Given the description of an element on the screen output the (x, y) to click on. 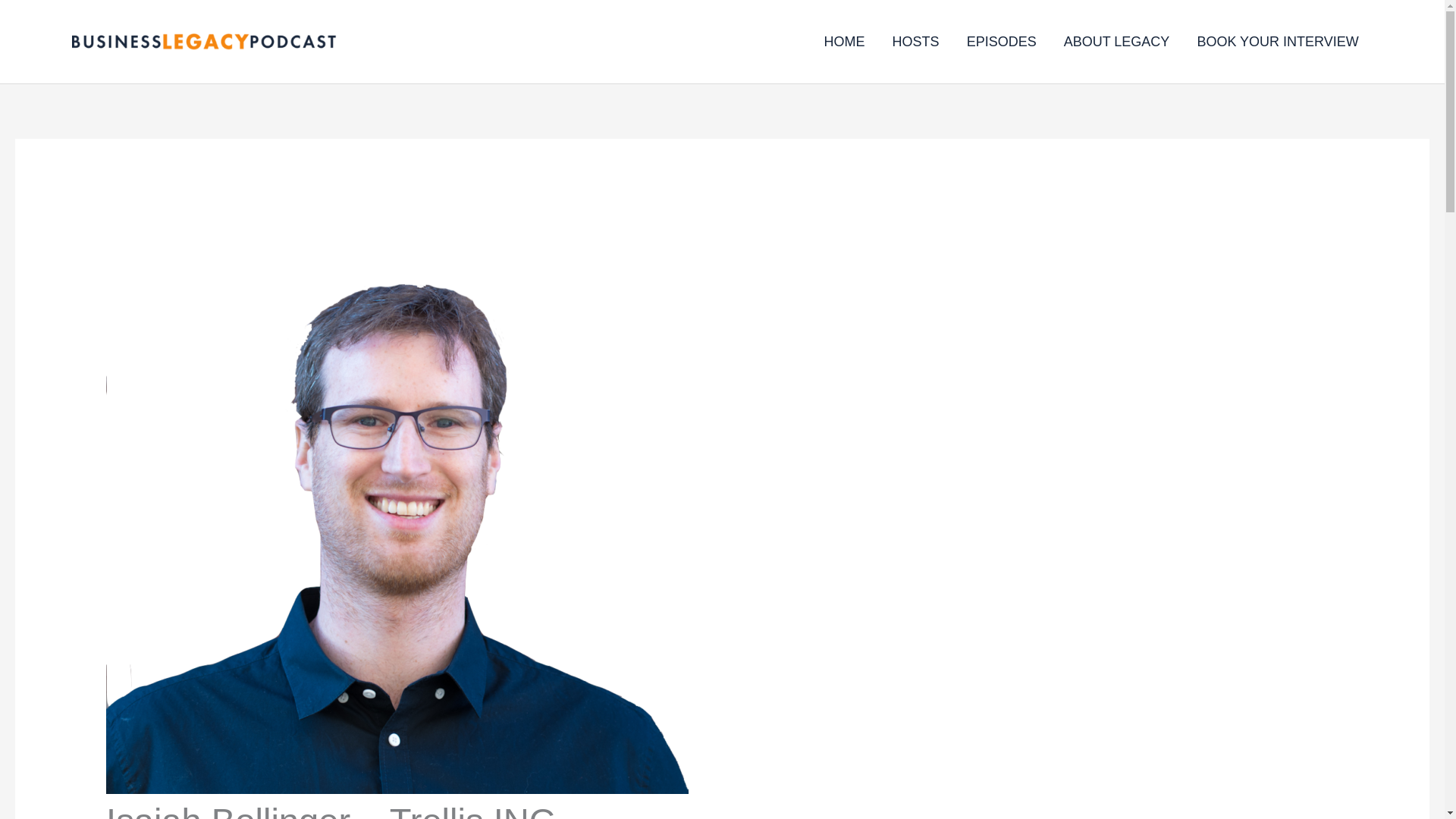
HOSTS (916, 41)
EPISODES (1001, 41)
ABOUT LEGACY (1116, 41)
BOOK YOUR INTERVIEW (1276, 41)
HOME (844, 41)
